Given the description of an element on the screen output the (x, y) to click on. 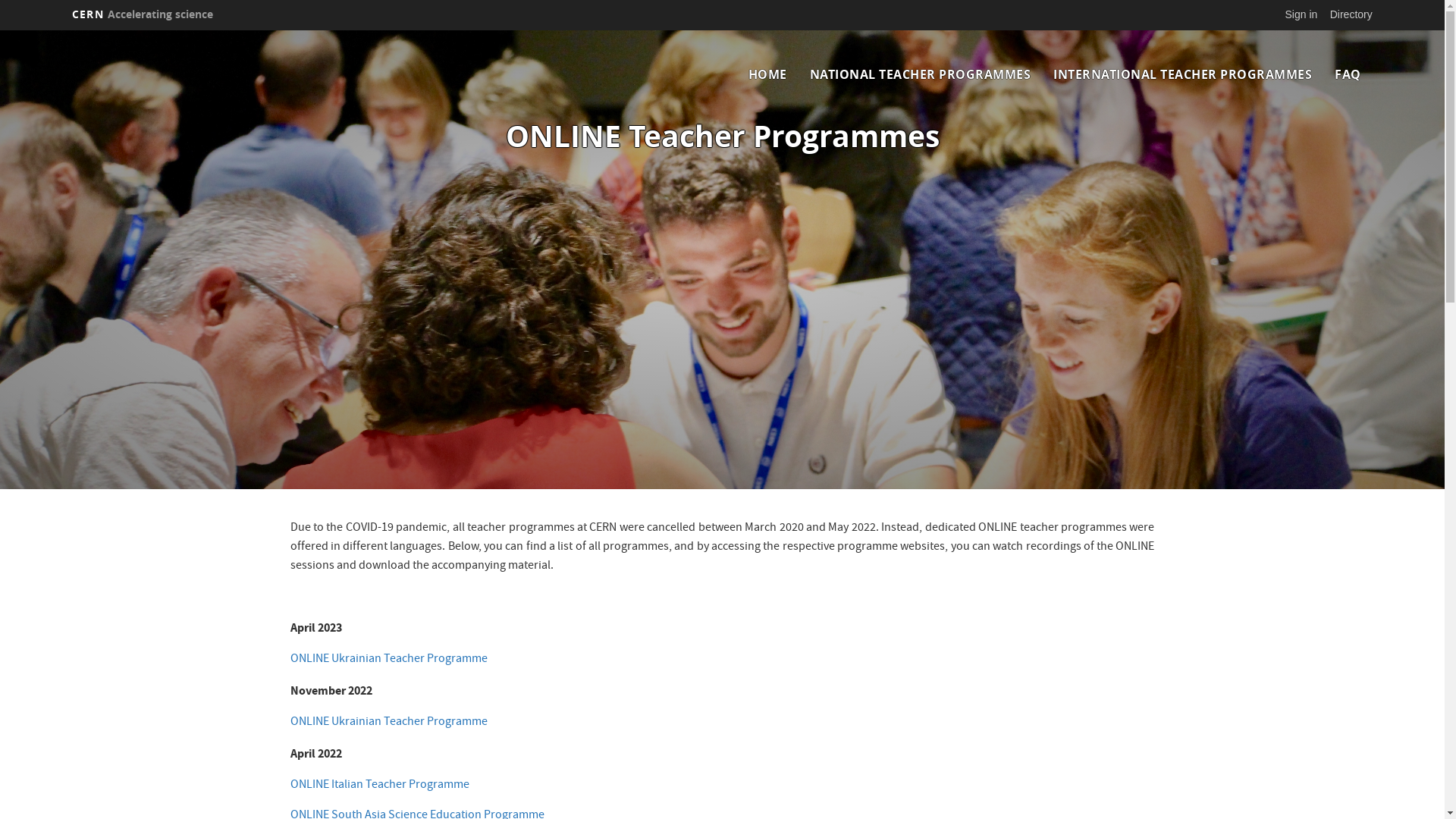
ONLINE Ukrainian Teacher Programme Element type: text (387, 722)
ONLINE Italian Teacher Programme Element type: text (378, 785)
Skip to main content Element type: text (0, 30)
FAQ Element type: text (1347, 74)
INTERNATIONAL TEACHER PROGRAMMES Element type: text (1182, 74)
Sign in Element type: text (1301, 14)
CERN Accelerating science Element type: text (142, 14)
NATIONAL TEACHER PROGRAMMES Element type: text (920, 74)
ONLINE Ukrainian Teacher Programme Element type: text (387, 659)
HOME Element type: text (767, 74)
Directory Element type: text (1351, 14)
